Given the description of an element on the screen output the (x, y) to click on. 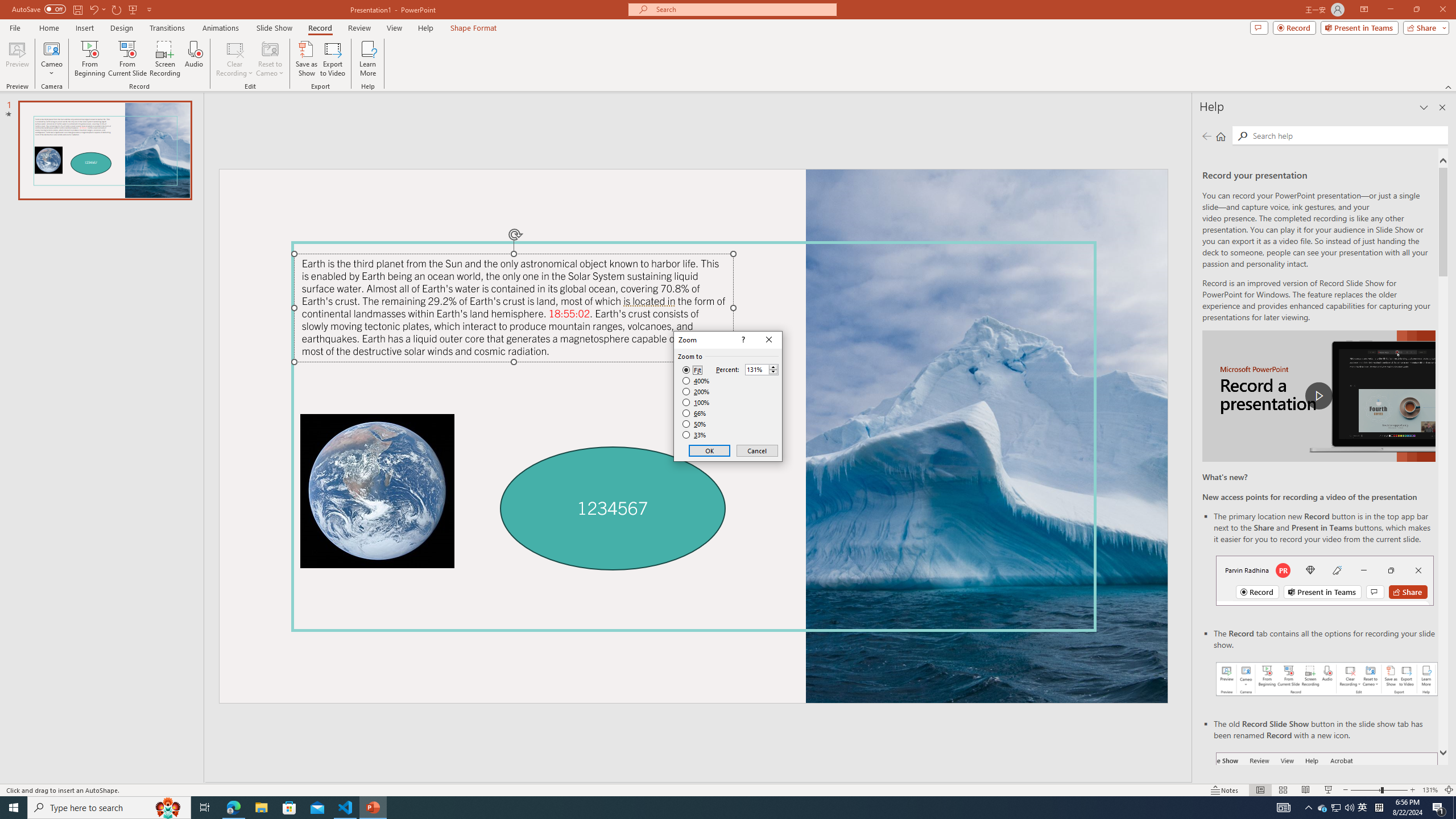
Record button in top bar (1324, 580)
